Given the description of an element on the screen output the (x, y) to click on. 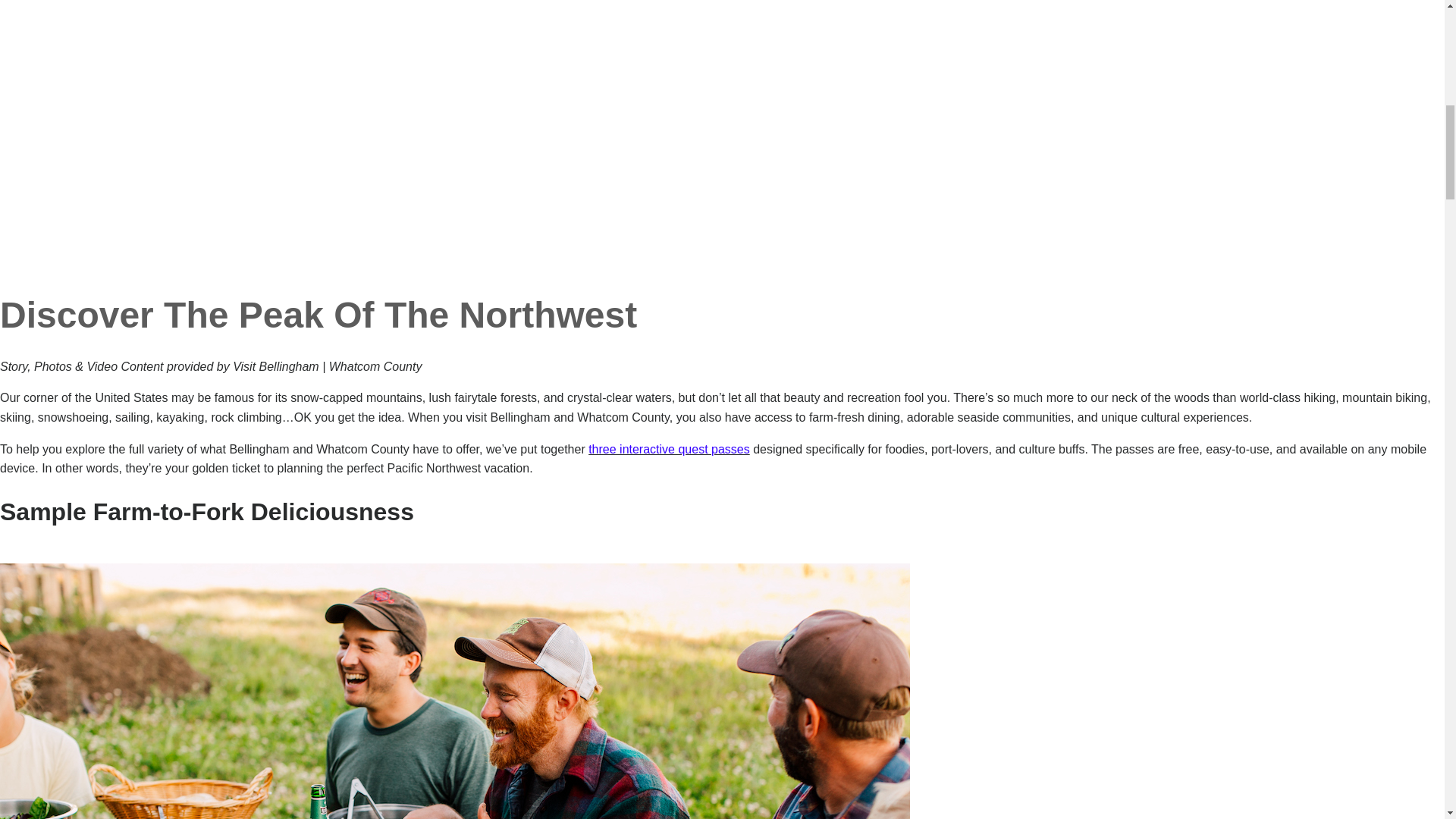
three interactive quest passes (668, 449)
